Given the description of an element on the screen output the (x, y) to click on. 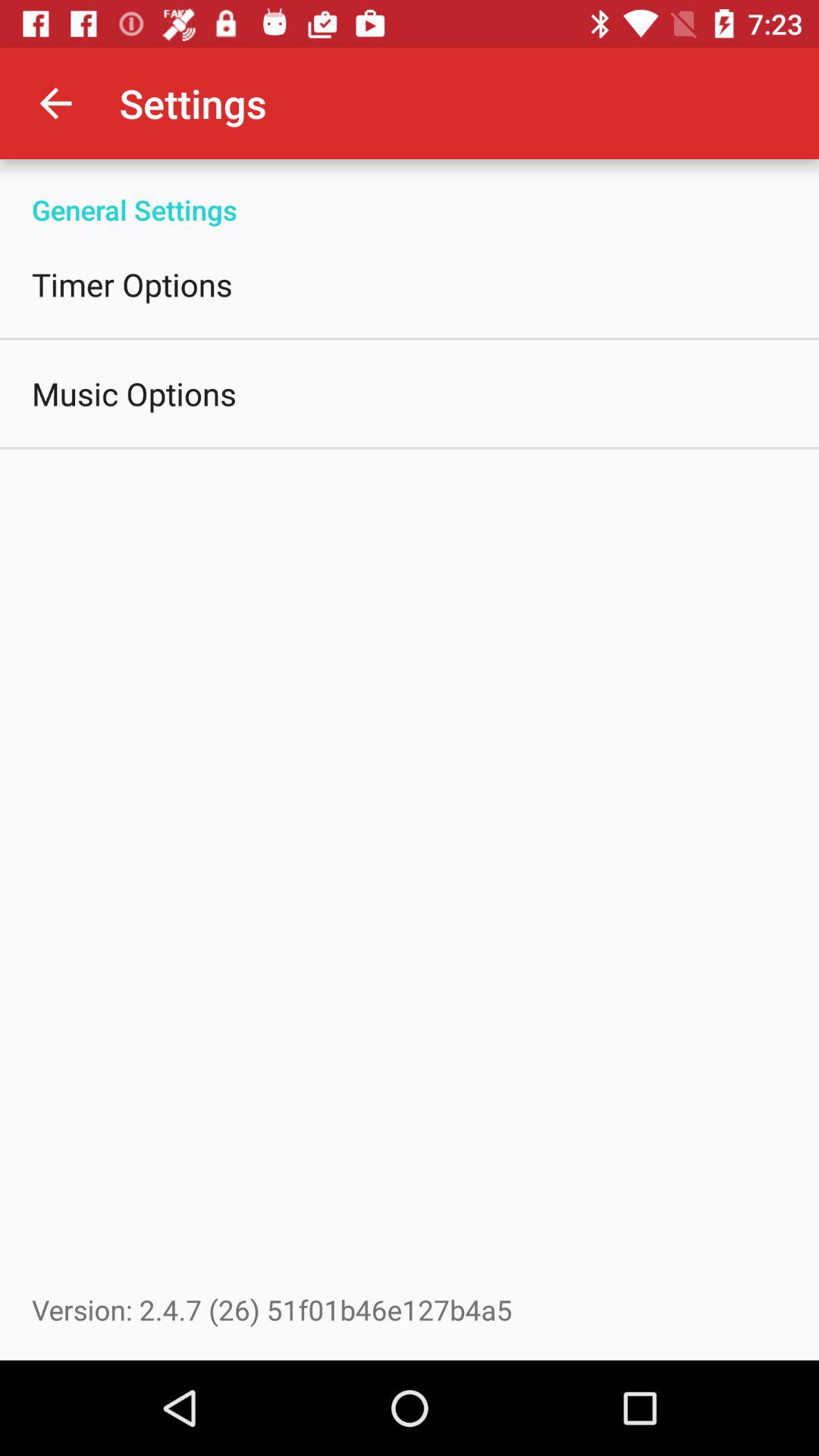
turn on the timer options (131, 283)
